Given the description of an element on the screen output the (x, y) to click on. 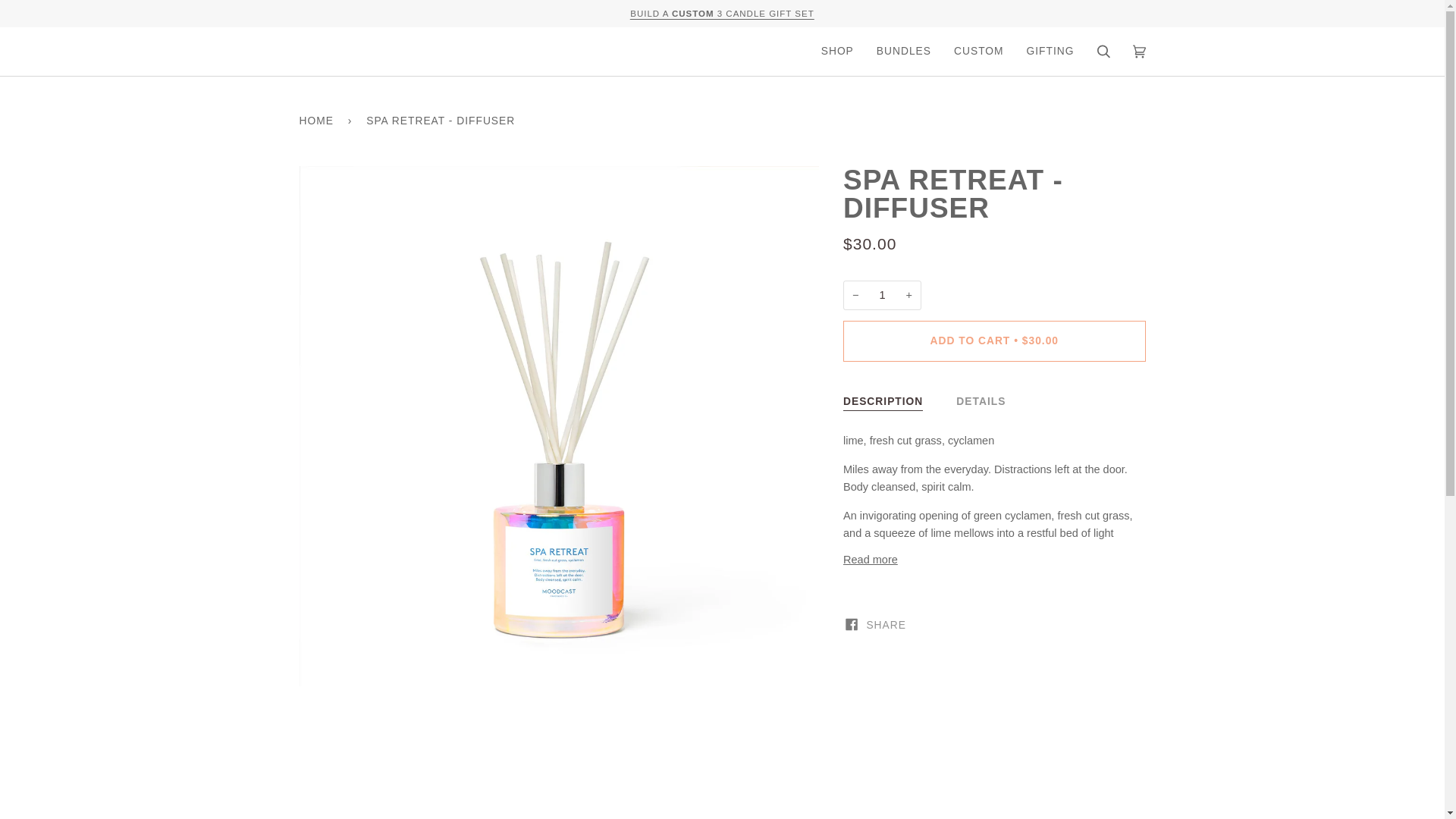
1 (882, 295)
Back to the frontpage (317, 120)
BUILD A CUSTOM 3 CANDLE GIFT SET (721, 13)
SHOP (836, 51)
